Given the description of an element on the screen output the (x, y) to click on. 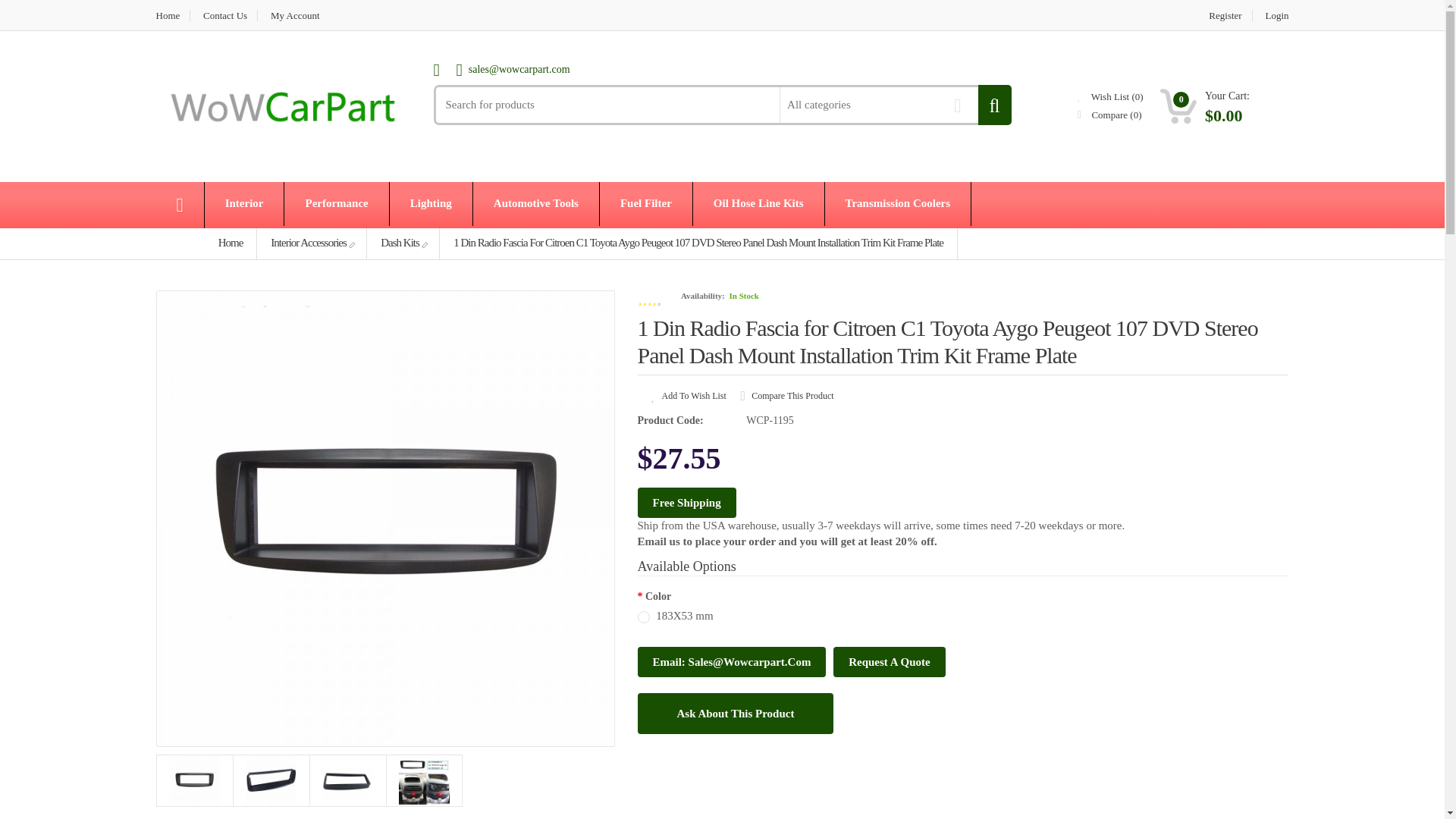
Automotive Tools (535, 203)
Oil Hose Line Kits (758, 203)
Performance (335, 203)
Interior (244, 203)
Fuel Filter (646, 203)
Lighting (430, 203)
